Given the description of an element on the screen output the (x, y) to click on. 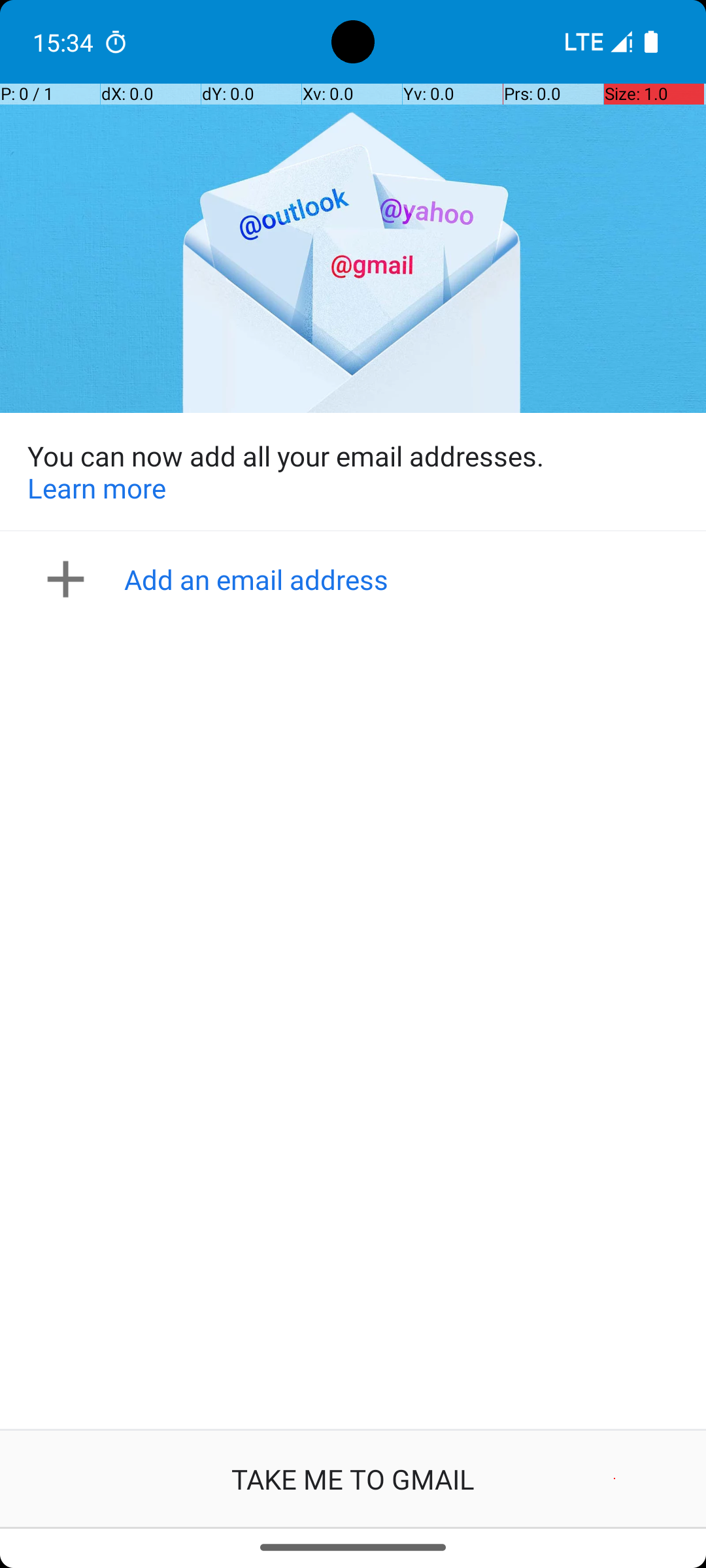
You can now add all your email addresses. Learn more Element type: android.widget.TextView (352, 471)
TAKE ME TO GMAIL Element type: android.widget.TextView (353, 1478)
Add an email address Element type: android.widget.TextView (356, 579)
